Given the description of an element on the screen output the (x, y) to click on. 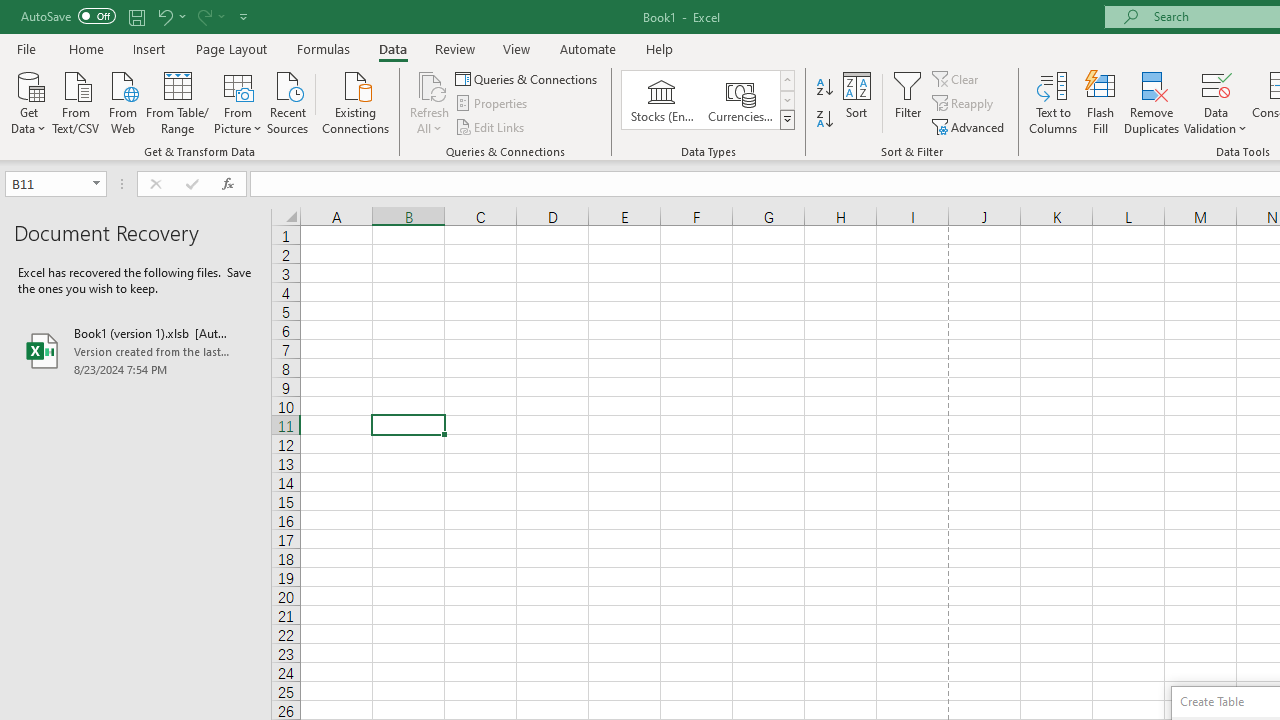
From Web (122, 101)
Stocks (English) (662, 100)
From Text/CSV (75, 101)
Filter (908, 102)
AutomationID: ConvertToLinkedEntity (708, 99)
Remove Duplicates (1151, 102)
Sort A to Z (824, 87)
